Given the description of an element on the screen output the (x, y) to click on. 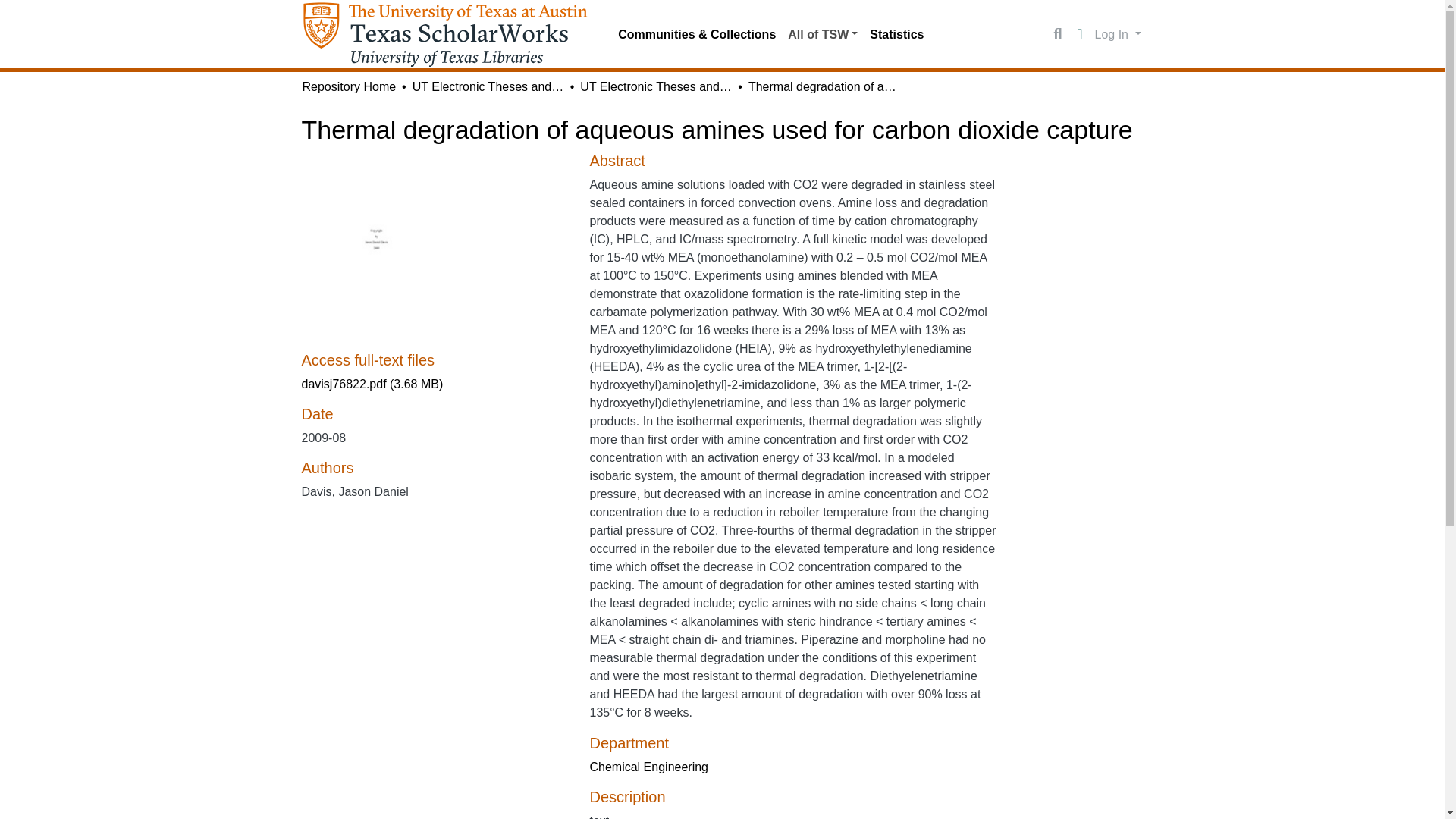
Log In (1117, 33)
All of TSW (822, 34)
Chemical Engineering (648, 766)
Repository Home (348, 86)
Statistics (896, 34)
Search (1057, 34)
Statistics (896, 34)
UT Electronic Theses and Dissertations (655, 86)
Language switch (1079, 34)
UT Electronic Theses and Dissertations (488, 86)
